Given the description of an element on the screen output the (x, y) to click on. 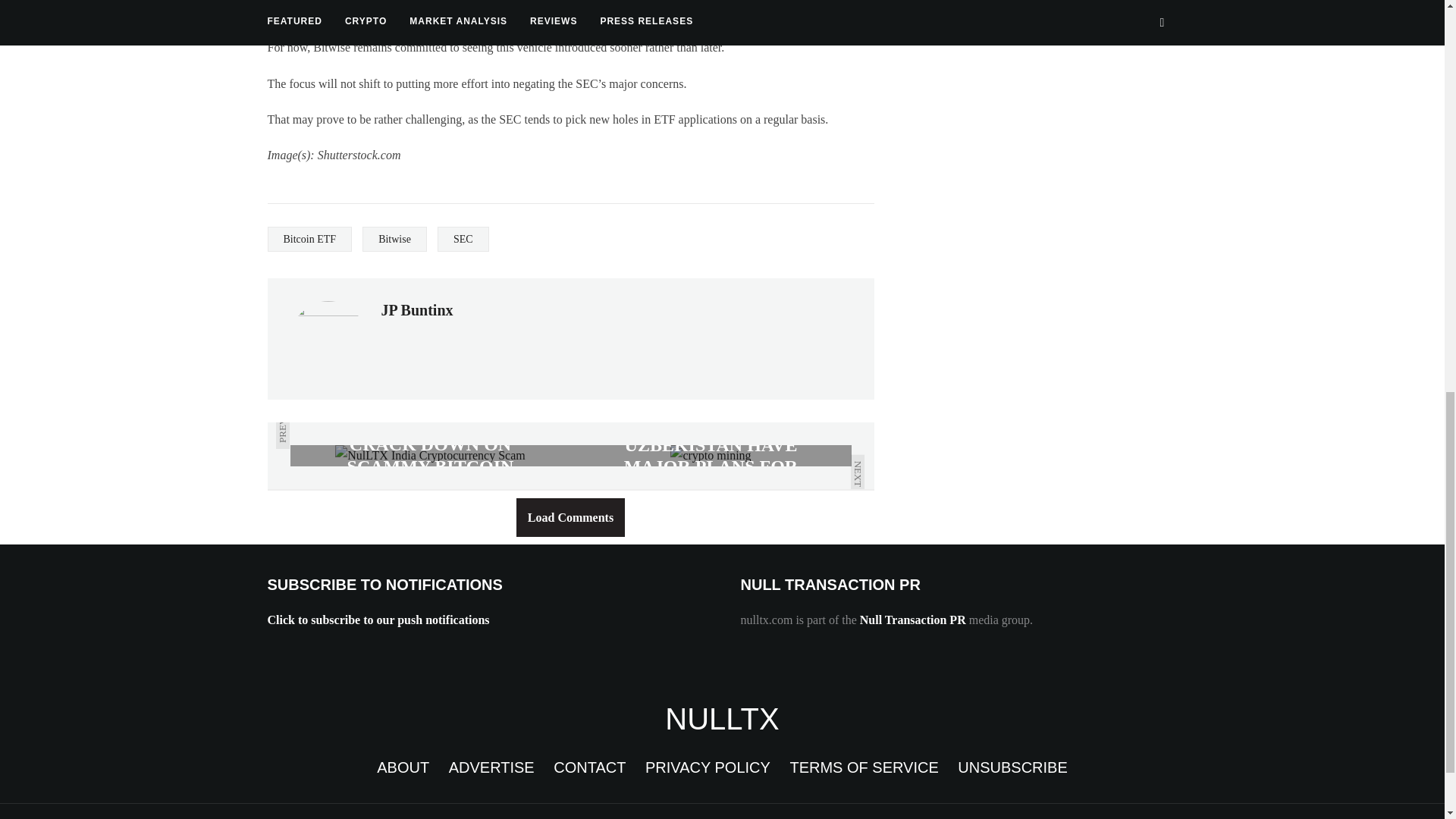
Null Transaction PR (913, 619)
YouTube Needs to Crack Down on Scammy Bitcoin Livestreams (429, 455)
ABOUT (403, 767)
CONTACT (589, 767)
UNSUBSCRIBE (1012, 767)
ADVERTISE (491, 767)
Posts by JP Buntinx (416, 310)
Load Comments (570, 517)
SEC (463, 238)
Bitcoin ETF (309, 238)
NULLTX (721, 718)
YOUTUBE NEEDS TO CRACK DOWN ON SCAMMY BITCOIN LIVESTREAMS (429, 455)
JP Buntinx (416, 310)
